Given the description of an element on the screen output the (x, y) to click on. 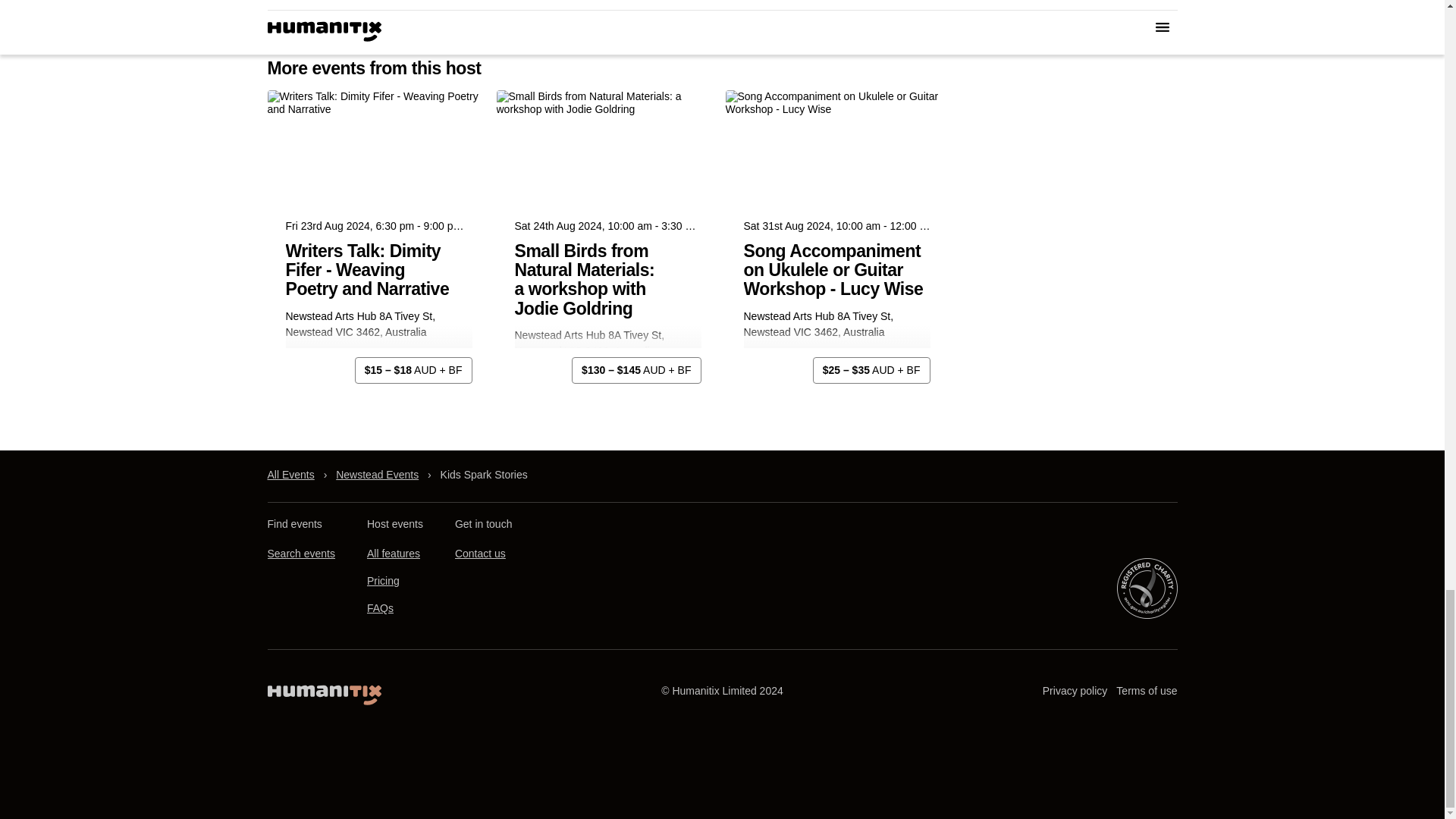
All Events (290, 474)
Kids Spark Stories (484, 474)
Newstead Events (377, 474)
